Given the description of an element on the screen output the (x, y) to click on. 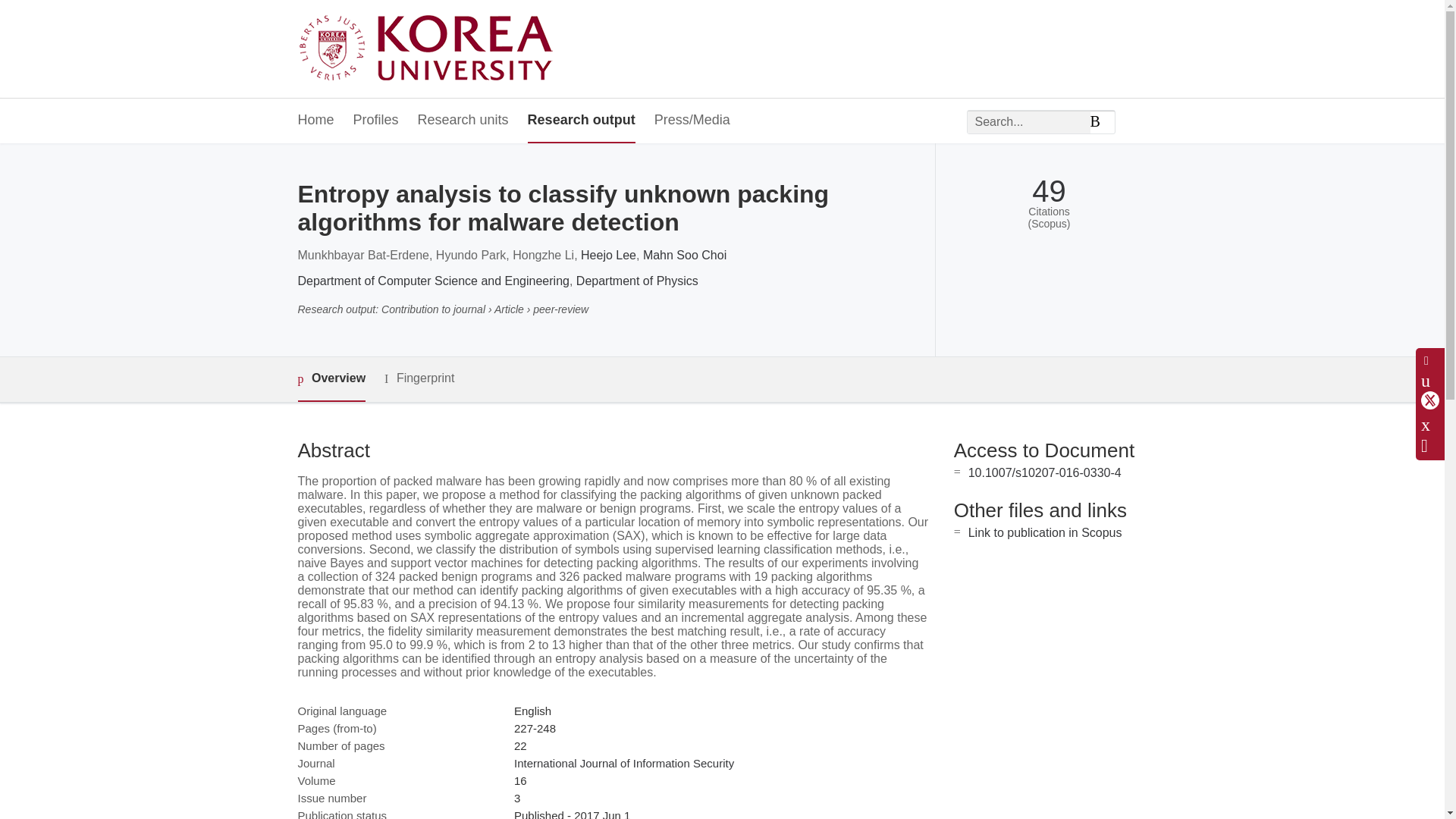
Overview (331, 379)
Korea University Home (429, 49)
Heejo Lee (608, 254)
Fingerprint (419, 378)
Research units (462, 120)
49 (1048, 191)
Mahn Soo Choi (684, 254)
Department of Computer Science and Engineering (433, 280)
Link to publication in Scopus (1045, 532)
